Given the description of an element on the screen output the (x, y) to click on. 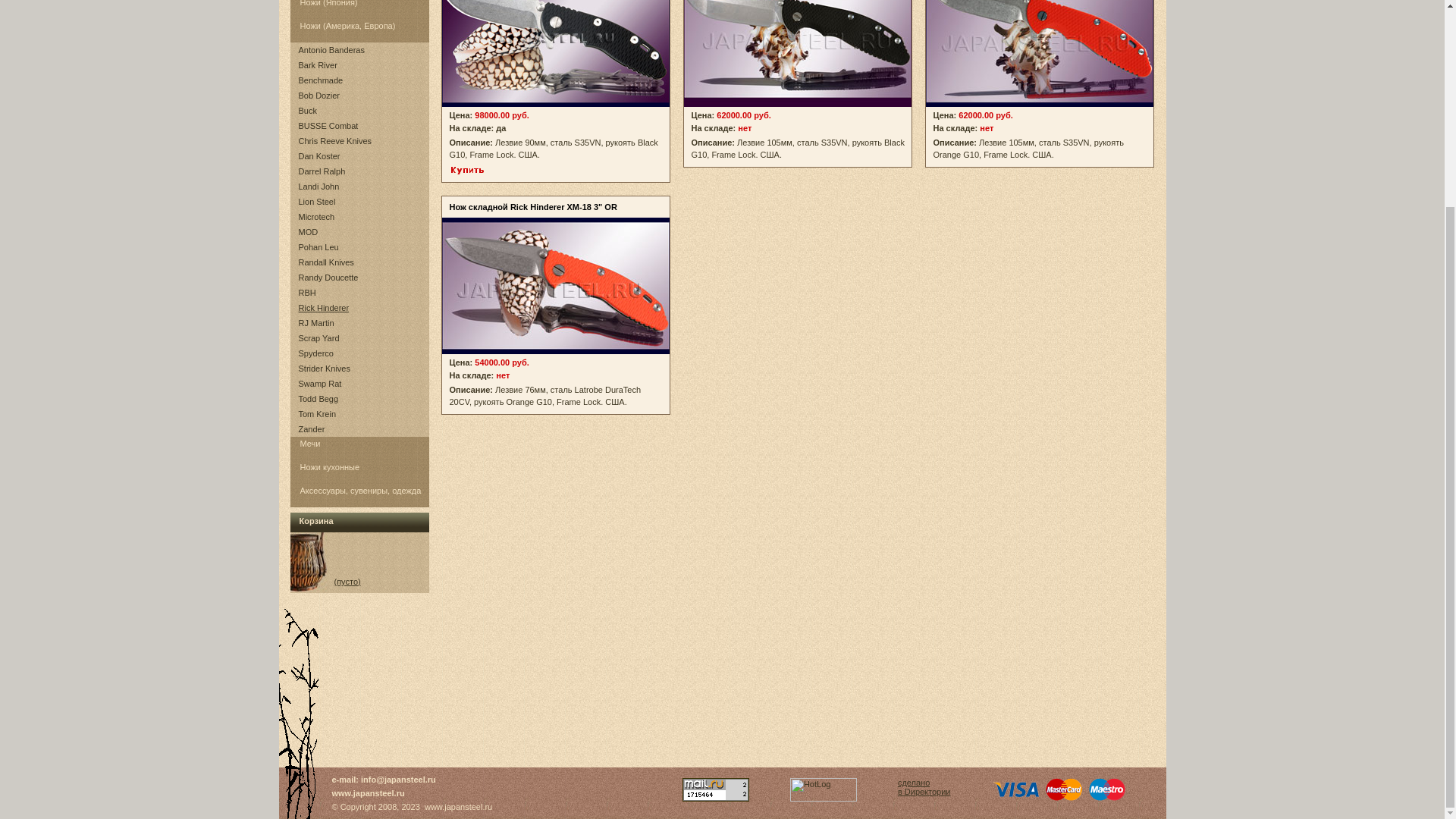
RJ Martin (316, 322)
Bark River (317, 64)
Buck (307, 110)
Bob Dozier (318, 94)
Lion Steel (317, 201)
Chris Reeve Knives (335, 140)
MOD (308, 231)
Microtech (316, 216)
Benchmade (320, 80)
Randy Doucette (328, 276)
Darrel Ralph (322, 171)
Antonio Banderas (331, 49)
Tom Krein (317, 413)
Scrap Yard (318, 338)
Todd Begg (318, 398)
